Given the description of an element on the screen output the (x, y) to click on. 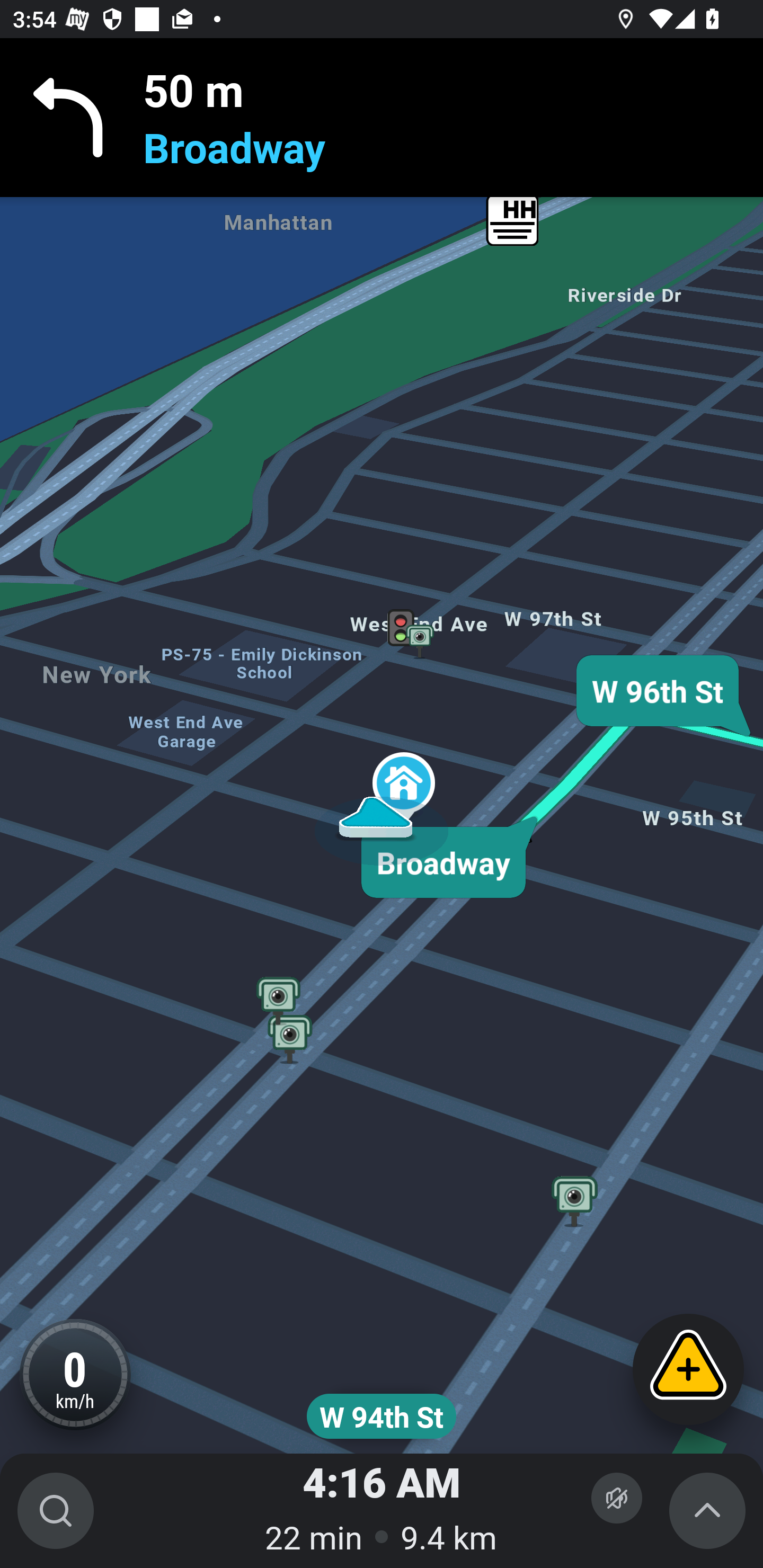
50 m Broadway (381, 117)
4:16 AM 22 min 9.4 km (381, 1510)
